Given the description of an element on the screen output the (x, y) to click on. 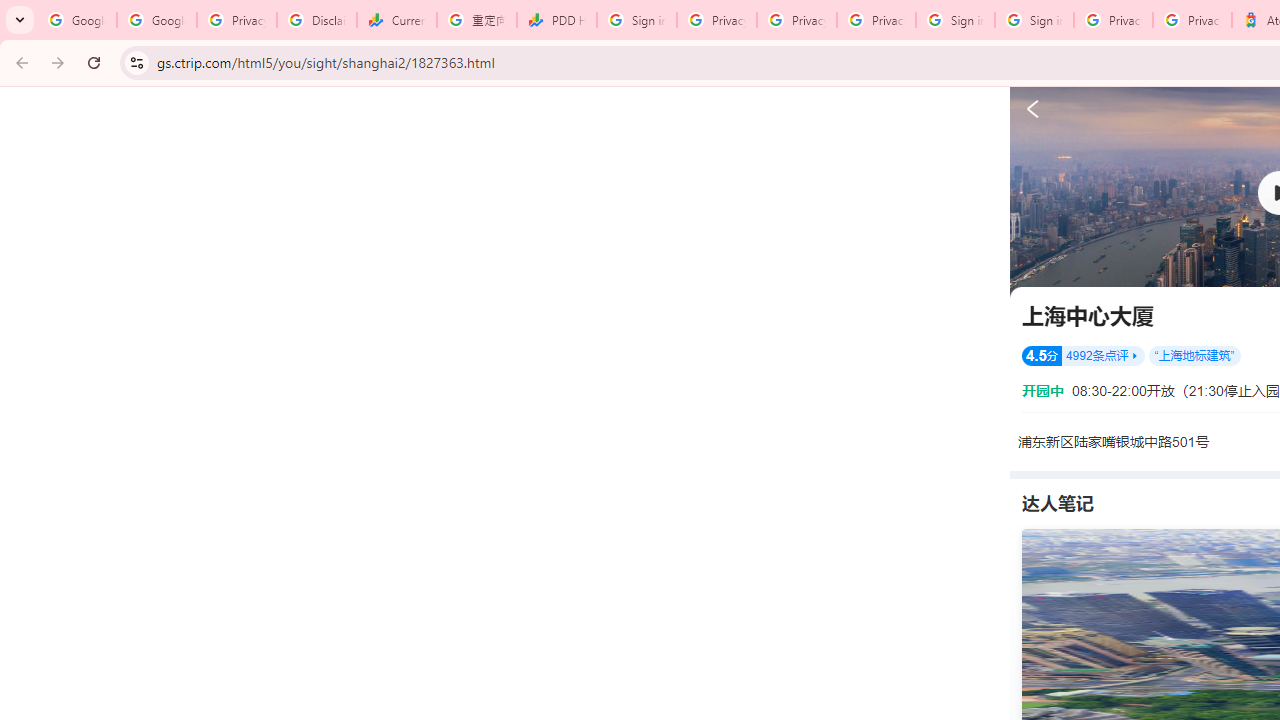
Sign in - Google Accounts (636, 20)
PDD Holdings Inc - ADR (PDD) Price & News - Google Finance (556, 20)
Sign in - Google Accounts (1033, 20)
Privacy Checkup (796, 20)
